Given the description of an element on the screen output the (x, y) to click on. 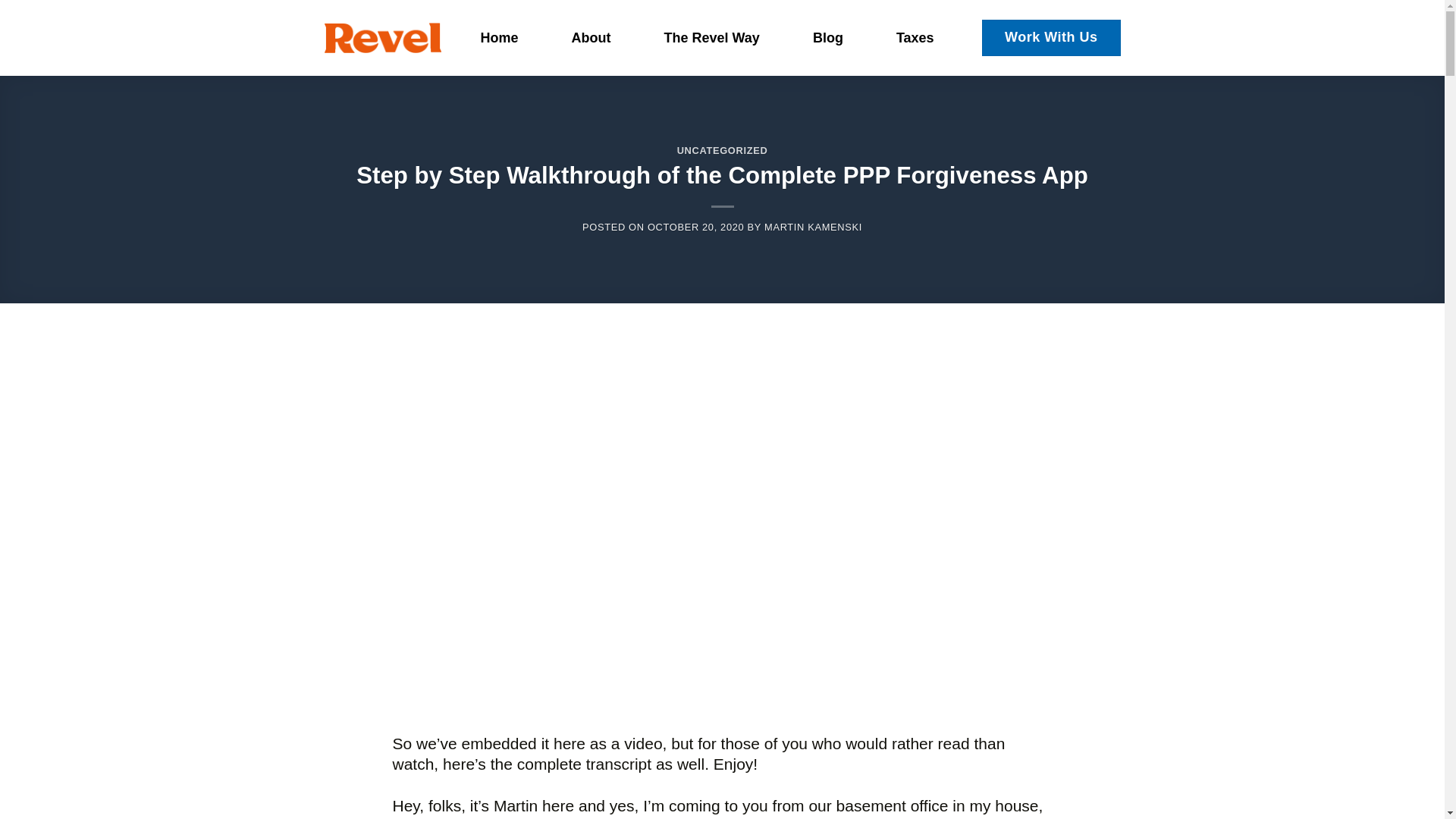
The Revel Way (711, 37)
Taxes (914, 37)
Home (499, 37)
Blog (828, 37)
Work With Us (1051, 37)
UNCATEGORIZED (722, 150)
About (590, 37)
MARTIN KAMENSKI (812, 226)
Revel CPA (382, 36)
OCTOBER 20, 2020 (695, 226)
